Given the description of an element on the screen output the (x, y) to click on. 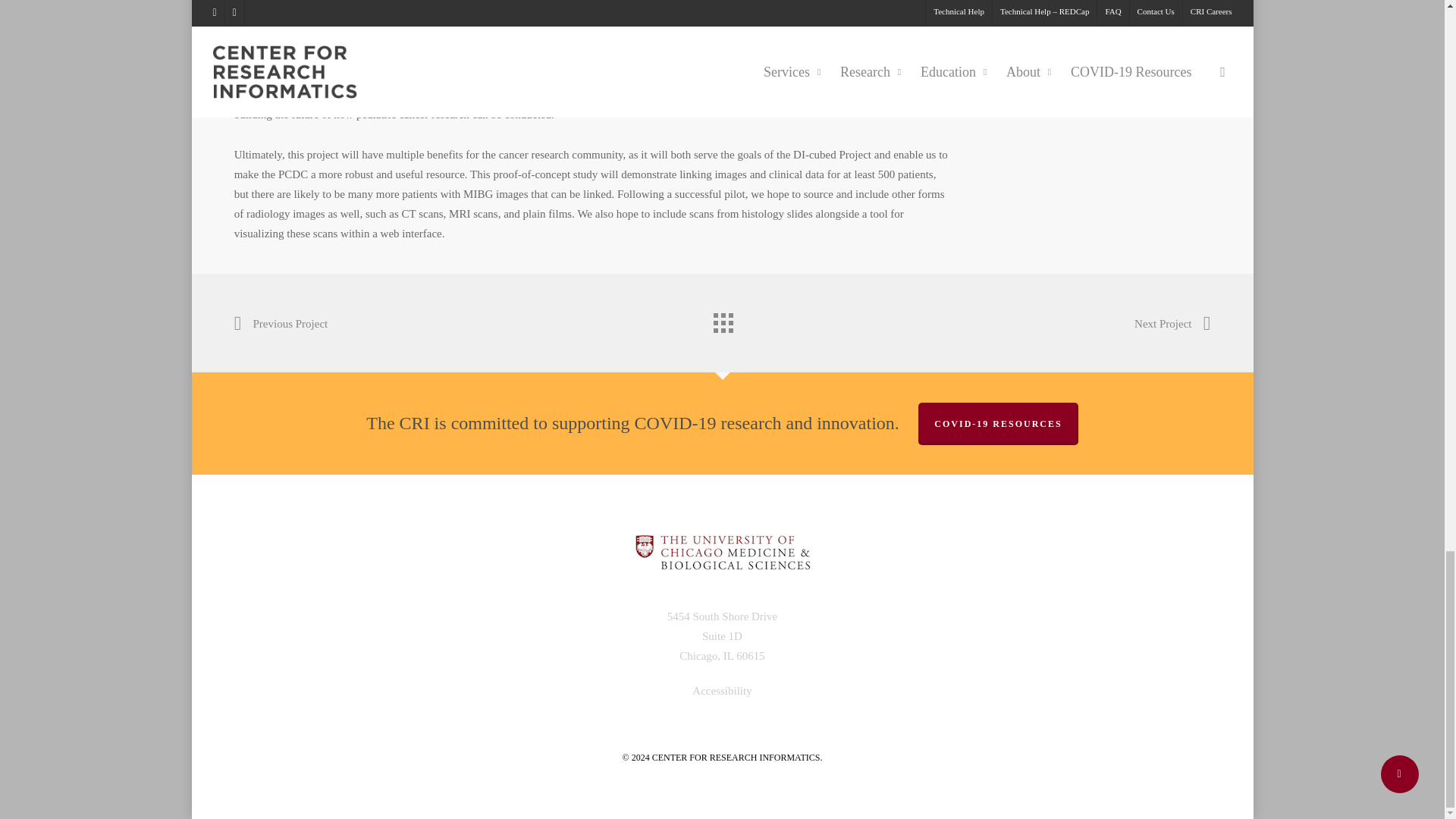
Back to all projects (721, 318)
